Given the description of an element on the screen output the (x, y) to click on. 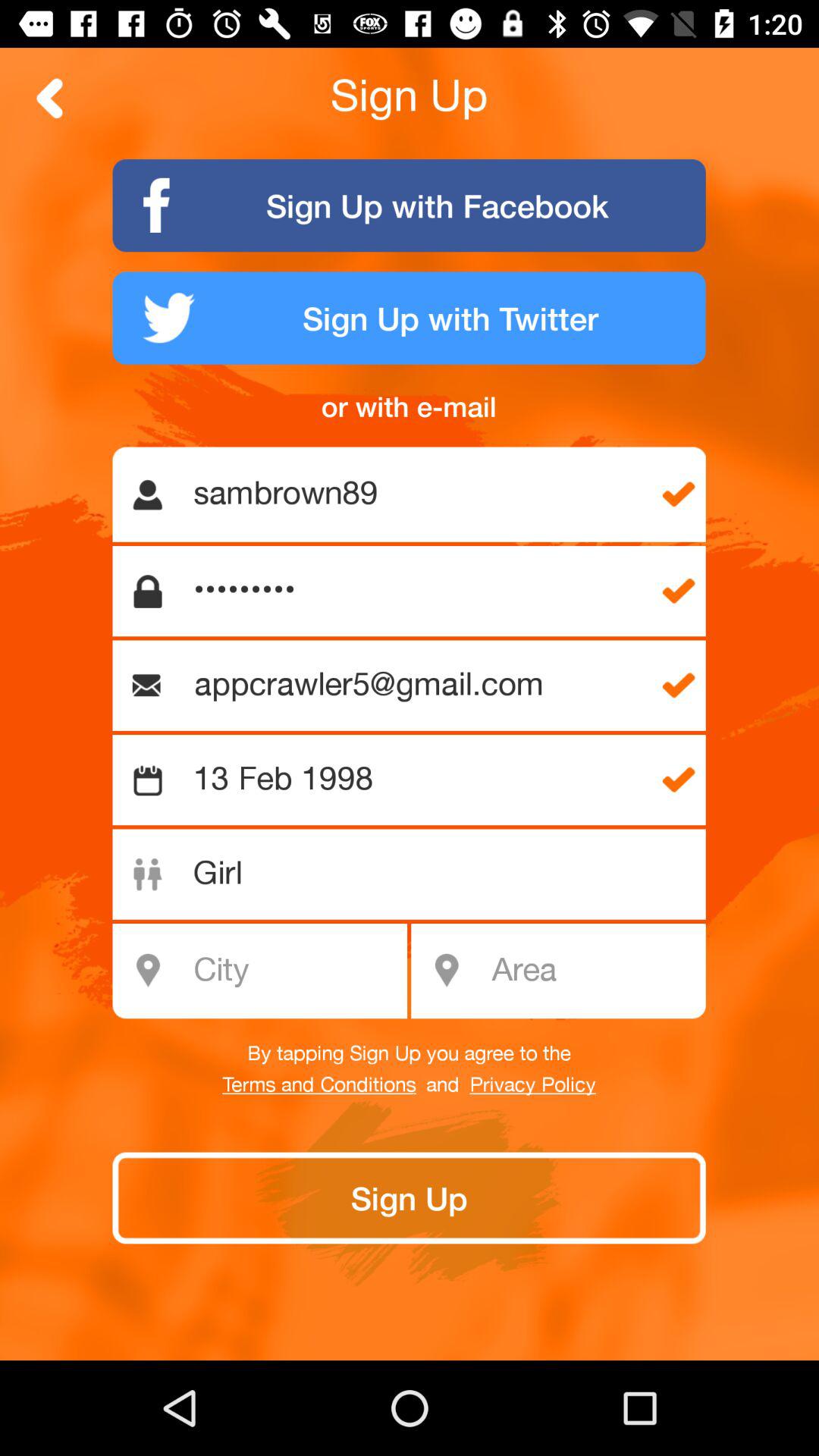
enter city name (268, 970)
